Given the description of an element on the screen output the (x, y) to click on. 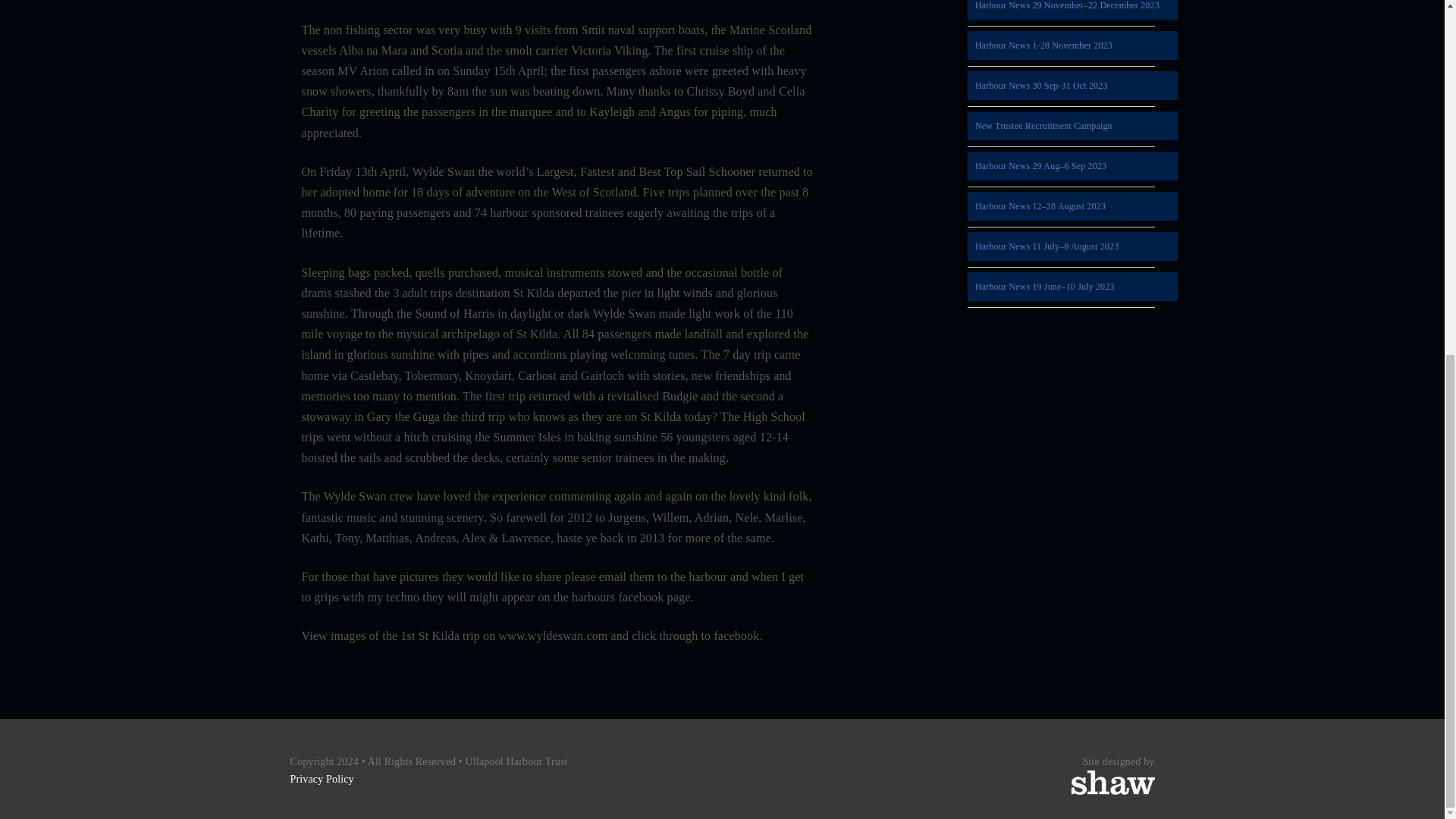
Harbour News 1-28 November 2023 (1072, 45)
Harbour News 30 Sep-31 Oct 2023 (1072, 85)
New Trustee Recruitment Campaign (1072, 125)
Permanent link to New Trustee Recruitment Campaign (1072, 125)
Permanent link to Harbour News 1-28 November 2023 (1072, 45)
Permanent link to Harbour News 30 Sep-31 Oct 2023 (1072, 85)
